Given the description of an element on the screen output the (x, y) to click on. 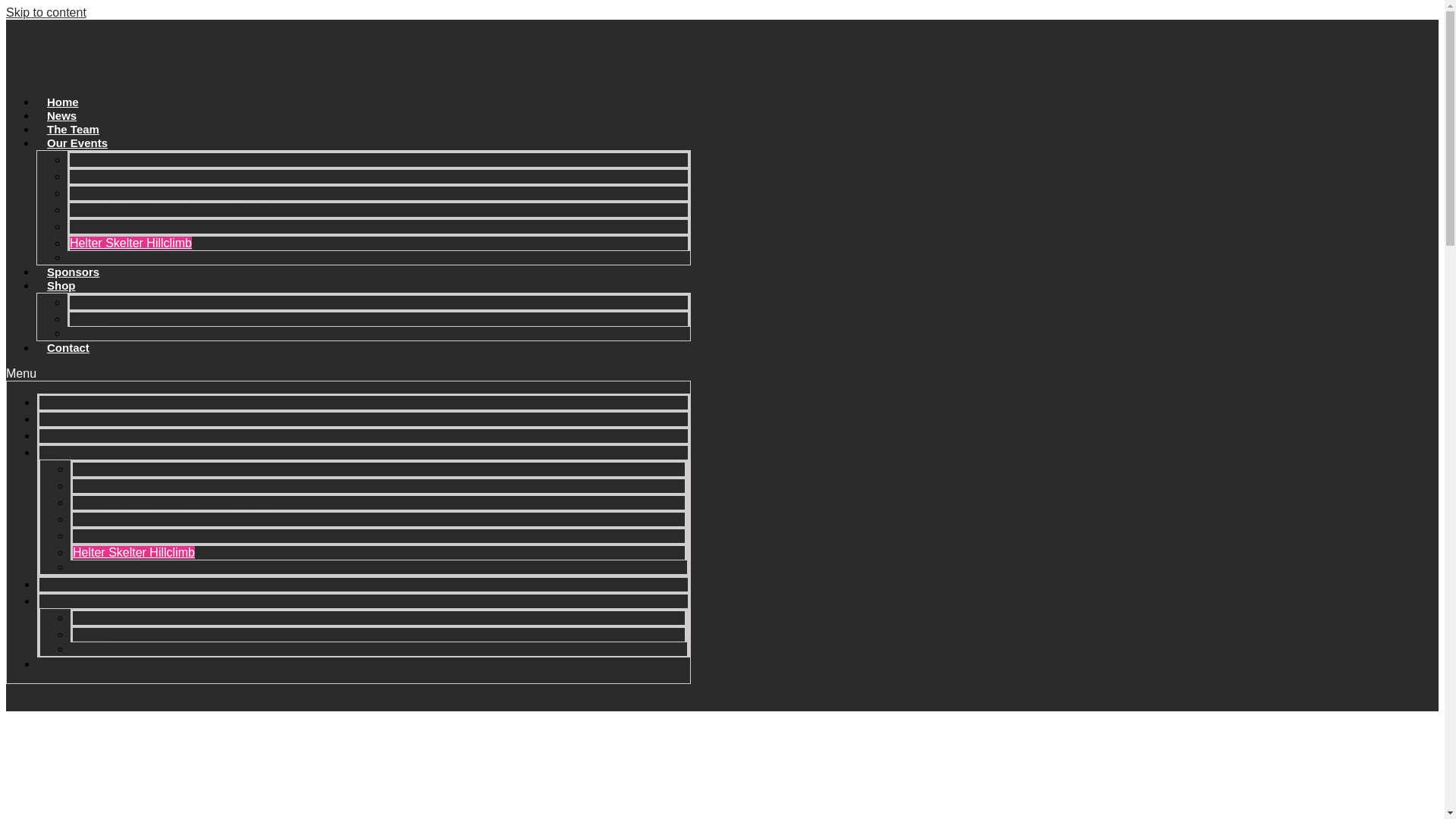
The Team Element type: text (72, 128)
Hammer & Tongs Motocross Team Trophy Element type: text (183, 566)
Shop Element type: text (61, 285)
Helter Skelter Hillclimb Element type: text (133, 552)
News Element type: text (54, 418)
Clothing Element type: text (94, 617)
Sponsors Element type: text (65, 583)
Checkout Element type: text (93, 332)
The Team Element type: text (65, 435)
Helter Skelter Hillclimb Element type: text (130, 242)
4 Nations MX Element type: text (105, 225)
EXGB Electric Off-Road Bike Racing Element type: text (167, 192)
Basket Element type: text (87, 318)
Airborne Gunner Supercross Element type: text (149, 468)
Checkout Element type: text (96, 648)
Our Events Element type: text (77, 142)
Hammer & Tongs Motocross Team Trophy Element type: text (180, 257)
Skip to content Element type: text (46, 12)
Contact Element type: text (68, 347)
Home Element type: text (62, 101)
EXGB Electric Off-Road Bike Racing Element type: text (170, 501)
News Element type: text (61, 115)
Basket Element type: text (90, 633)
4 Nations MX Element type: text (108, 535)
Shop Element type: text (53, 600)
Contact Element type: text (58, 663)
Clothing Element type: text (91, 301)
Sponsors Element type: text (72, 271)
Revvi Cup & Electric Balance Bike Racing Element type: text (185, 518)
Revvi Cup & Electric Balance Bike Racing Element type: text (182, 209)
Airborne Gunner Supercross Element type: text (146, 159)
Our Events Element type: text (69, 451)
Home Element type: text (55, 401)
